Given the description of an element on the screen output the (x, y) to click on. 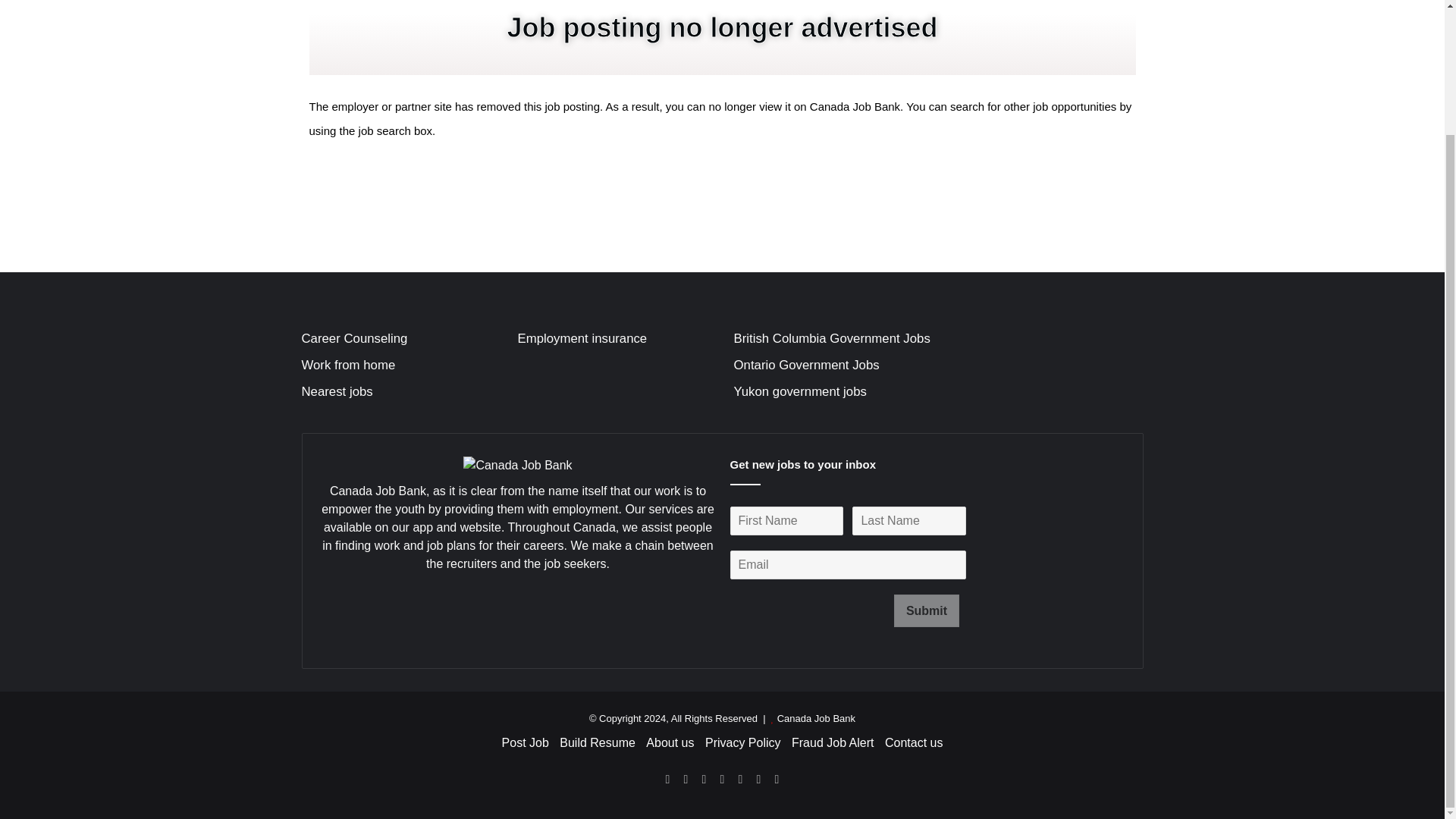
Ontario Government Jobs (806, 364)
Contact us (913, 742)
Career Counseling (354, 338)
Fraud Job Alert (833, 742)
Nearest jobs (336, 391)
Submit (926, 610)
Yukon government jobs (799, 391)
British Columbia Government Jobs (831, 338)
Build Resume (596, 742)
Post Job (525, 742)
Work from home (348, 364)
About us (670, 742)
Employment insurance (581, 338)
Privacy Policy (742, 742)
